Given the description of an element on the screen output the (x, y) to click on. 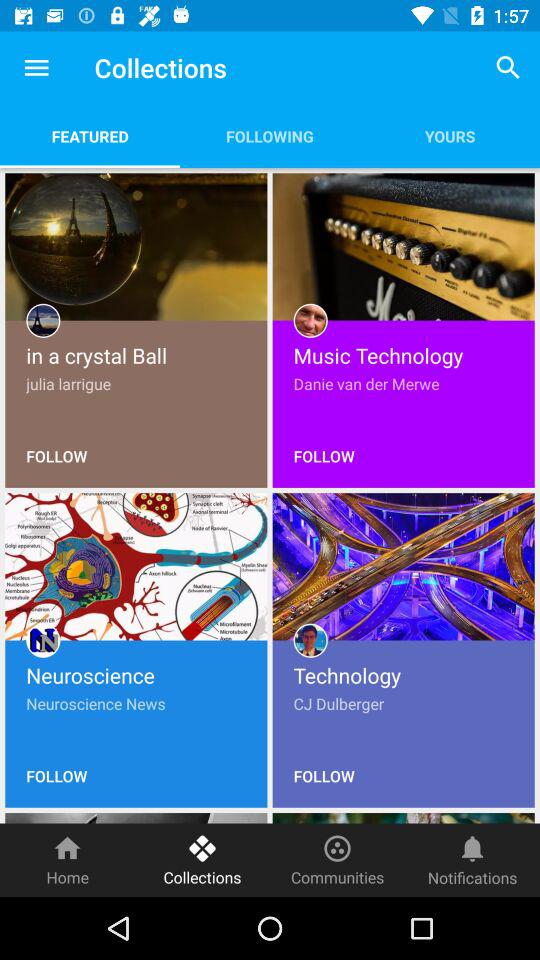
click the app next to following item (508, 67)
